Given the description of an element on the screen output the (x, y) to click on. 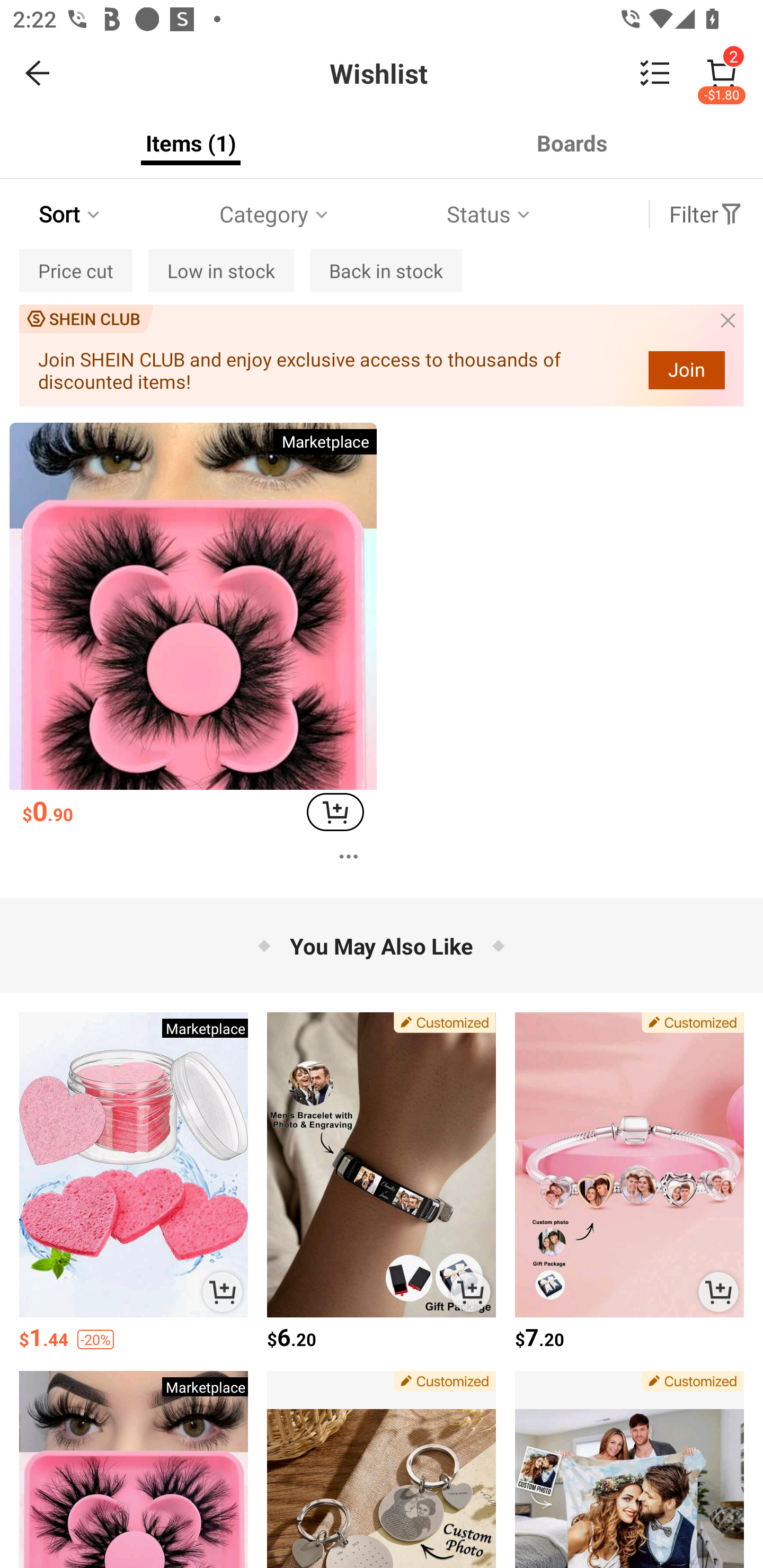
Wishlist (381, 72)
2 -$1.80 (721, 72)
change view (654, 72)
BACK (38, 72)
Items (1) (190, 143)
Boards (572, 143)
Sort (70, 213)
Category (275, 213)
Status (489, 213)
Filter (705, 213)
Price cut (75, 270)
Low in stock (220, 270)
Back in stock (385, 270)
ADD TO CART (334, 812)
You May Also Like (381, 945)
ADD TO CART (221, 1291)
ADD TO CART (469, 1291)
ADD TO CART (717, 1291)
